Given the description of an element on the screen output the (x, y) to click on. 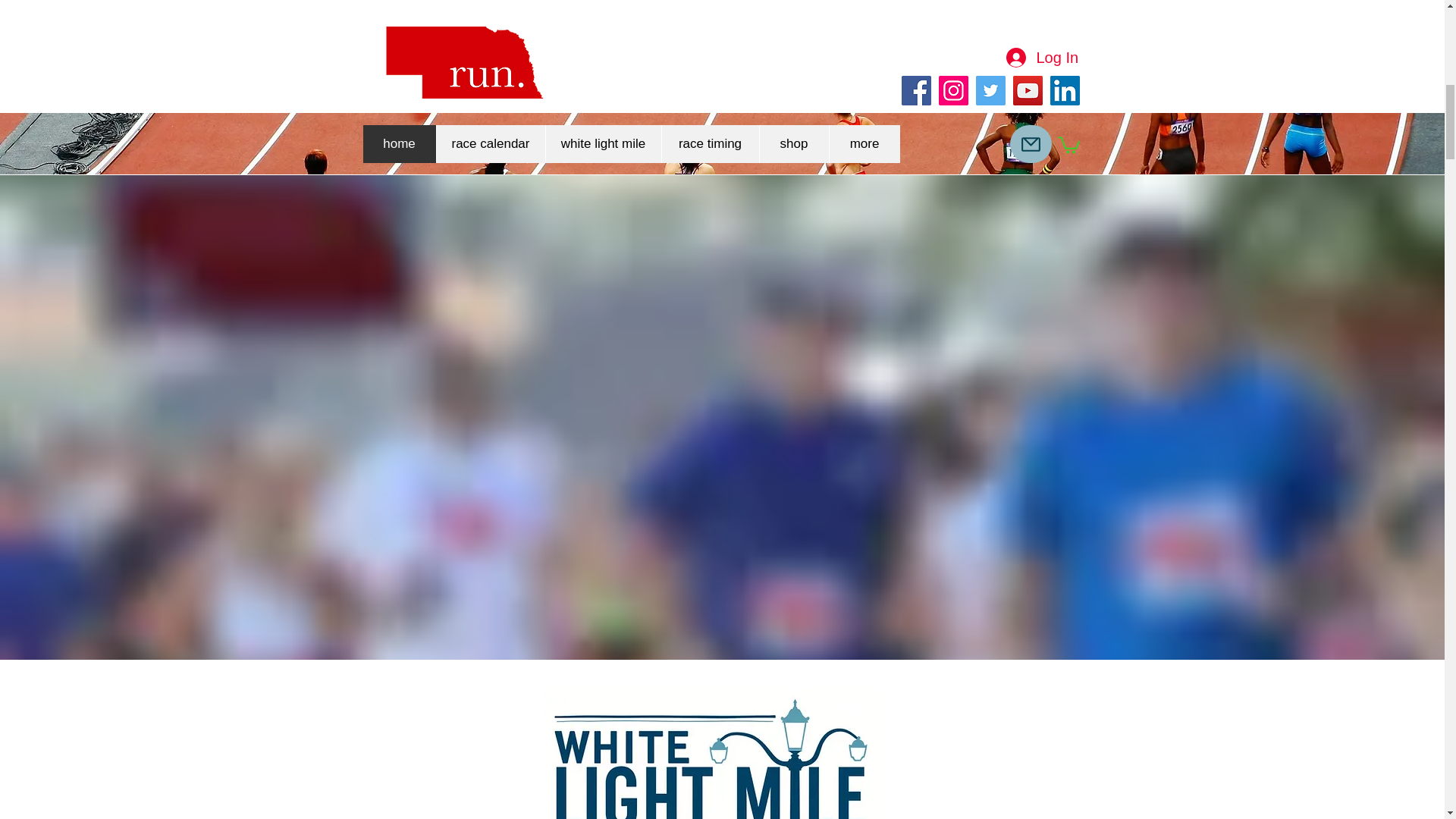
www.nebraskausatf.org (555, 54)
WLM logo 1.jpg (710, 753)
www.rrca.org (873, 54)
